Given the description of an element on the screen output the (x, y) to click on. 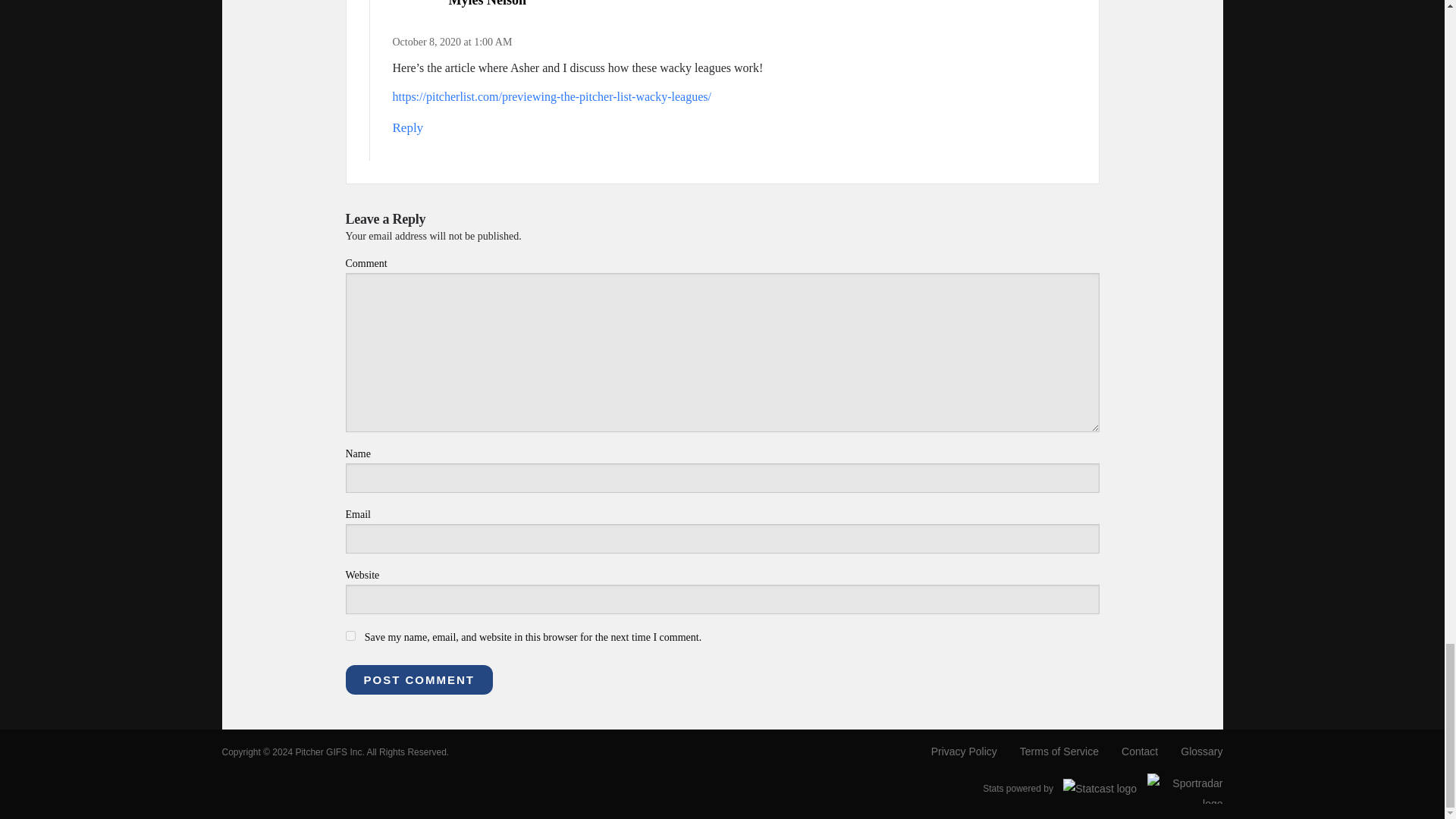
Post Comment (419, 679)
yes (350, 635)
